Given the description of an element on the screen output the (x, y) to click on. 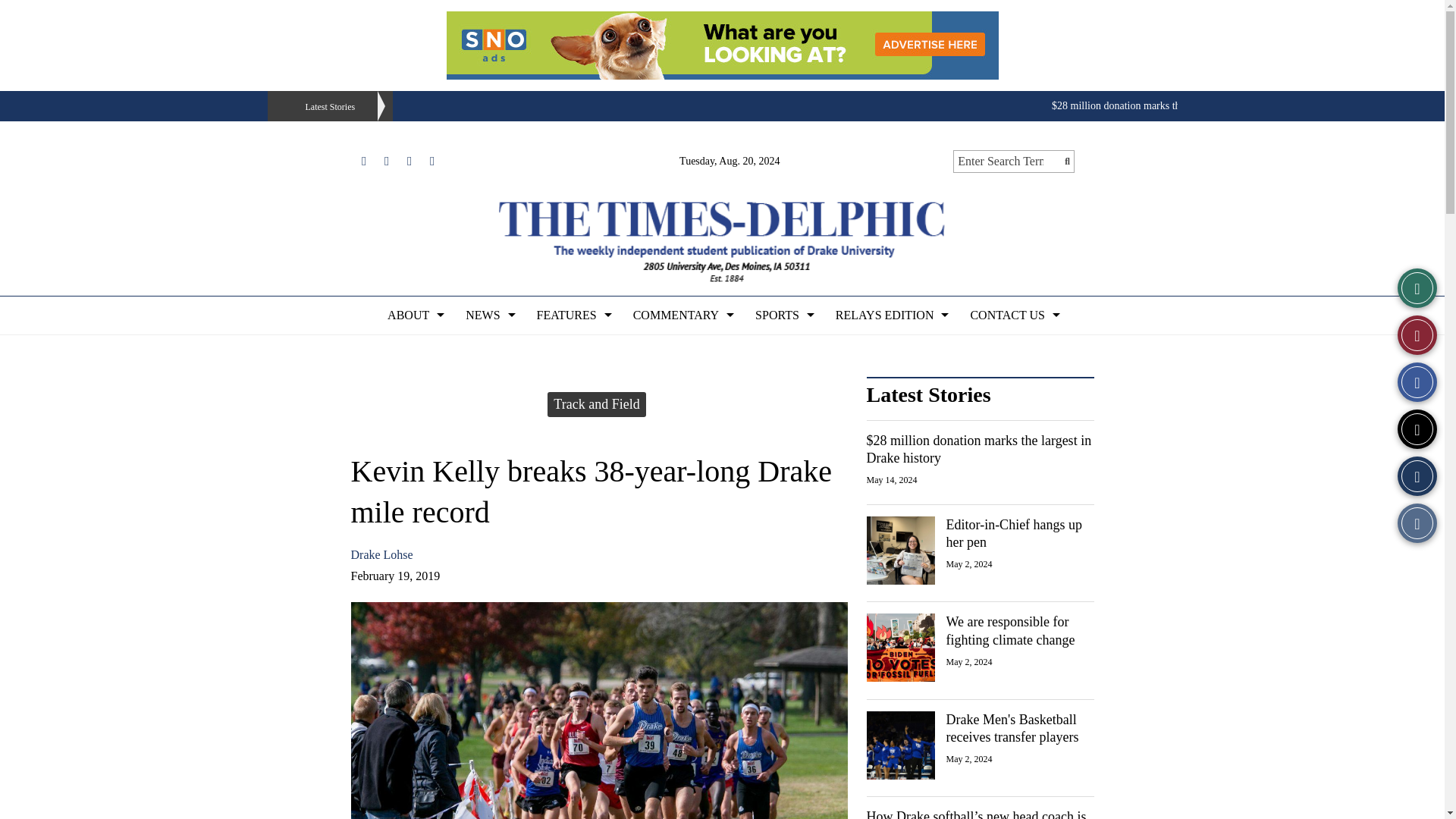
COMMENTARY (681, 315)
NEWS (488, 315)
FEATURES (572, 315)
SPORTS (783, 315)
ABOUT (413, 315)
